Given the description of an element on the screen output the (x, y) to click on. 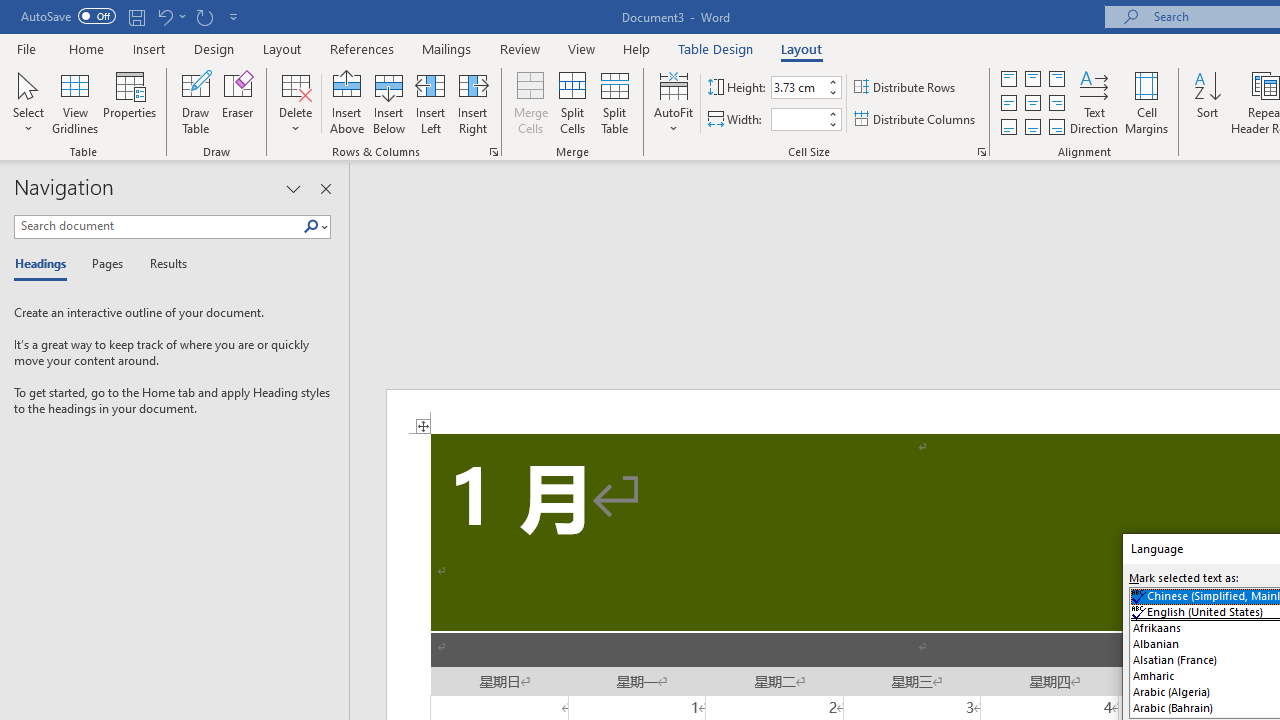
Distribute Rows (906, 87)
Pages (105, 264)
Align Center (1032, 103)
Table Design (715, 48)
Distribute Columns (916, 119)
View Gridlines (75, 102)
Align Center Justified (1009, 103)
References (362, 48)
More Options (182, 15)
Align Top Right (1056, 78)
Table Row Height (797, 87)
Insert Above (347, 102)
Layout (801, 48)
Delete (296, 102)
